Given the description of an element on the screen output the (x, y) to click on. 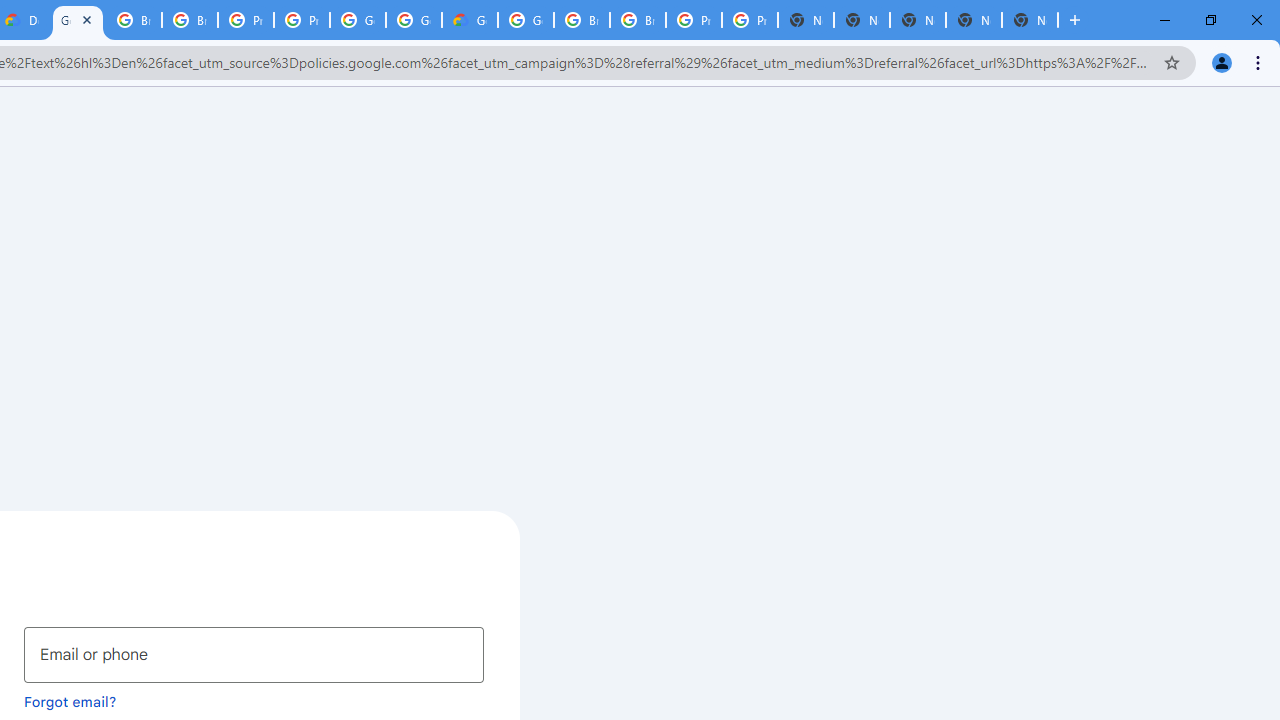
Forgot email? (70, 701)
Google Cloud Platform (358, 20)
Google Cloud Platform (77, 20)
Google Cloud Platform (413, 20)
New Tab (1030, 20)
Google Cloud Estimate Summary (469, 20)
Browse Chrome as a guest - Computer - Google Chrome Help (134, 20)
